Given the description of an element on the screen output the (x, y) to click on. 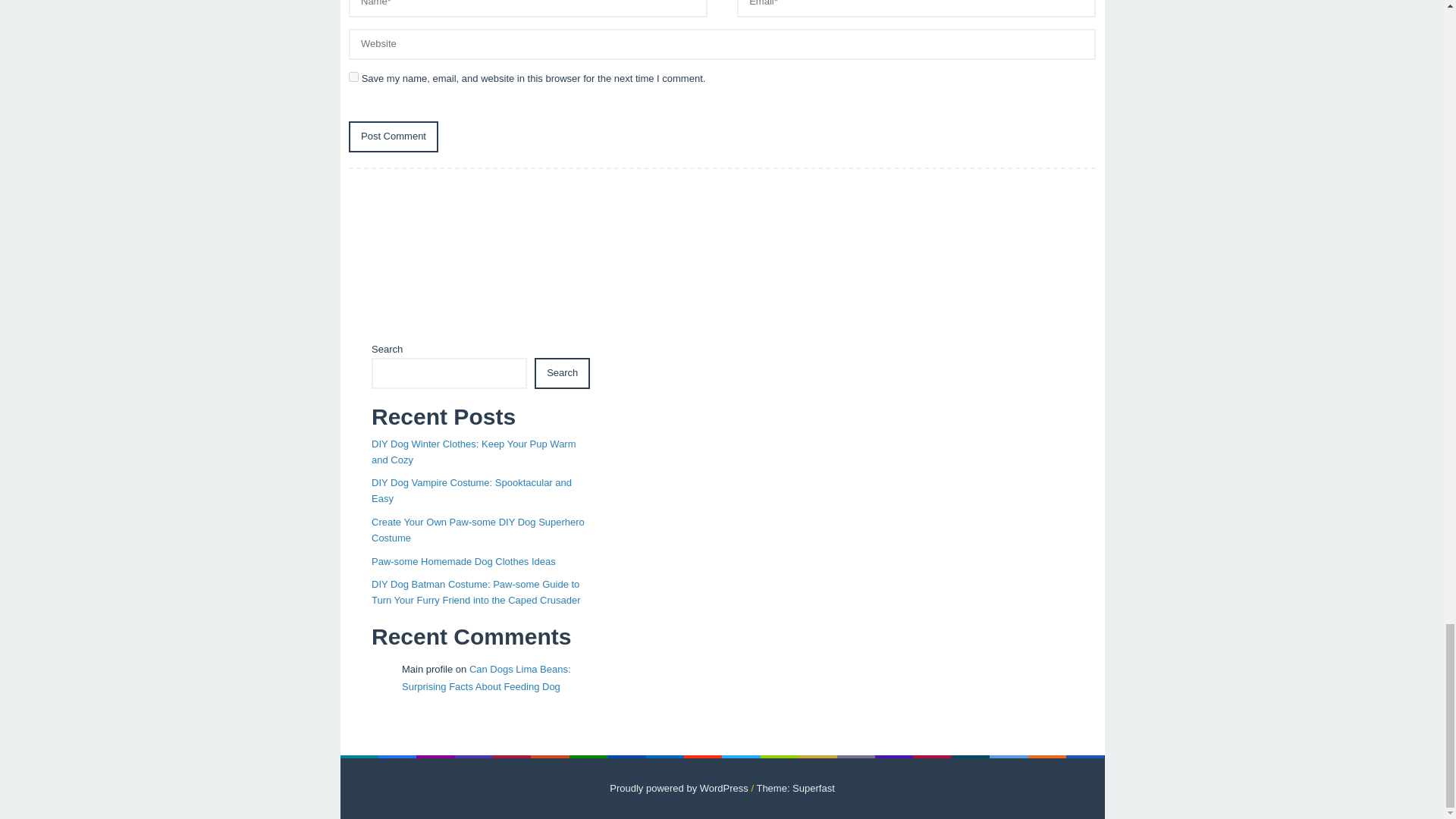
Paw-some Homemade Dog Clothes Ideas (463, 561)
DIY Dog Vampire Costume: Spooktacular and Easy (471, 490)
yes (353, 76)
DIY Dog Winter Clothes: Keep Your Pup Warm and Cozy (473, 452)
Search (561, 373)
Post Comment (393, 136)
Advertisement (722, 259)
Theme: Superfast (794, 787)
Can Dogs Lima Beans: Surprising Facts About Feeding Dog (485, 677)
